Given the description of an element on the screen output the (x, y) to click on. 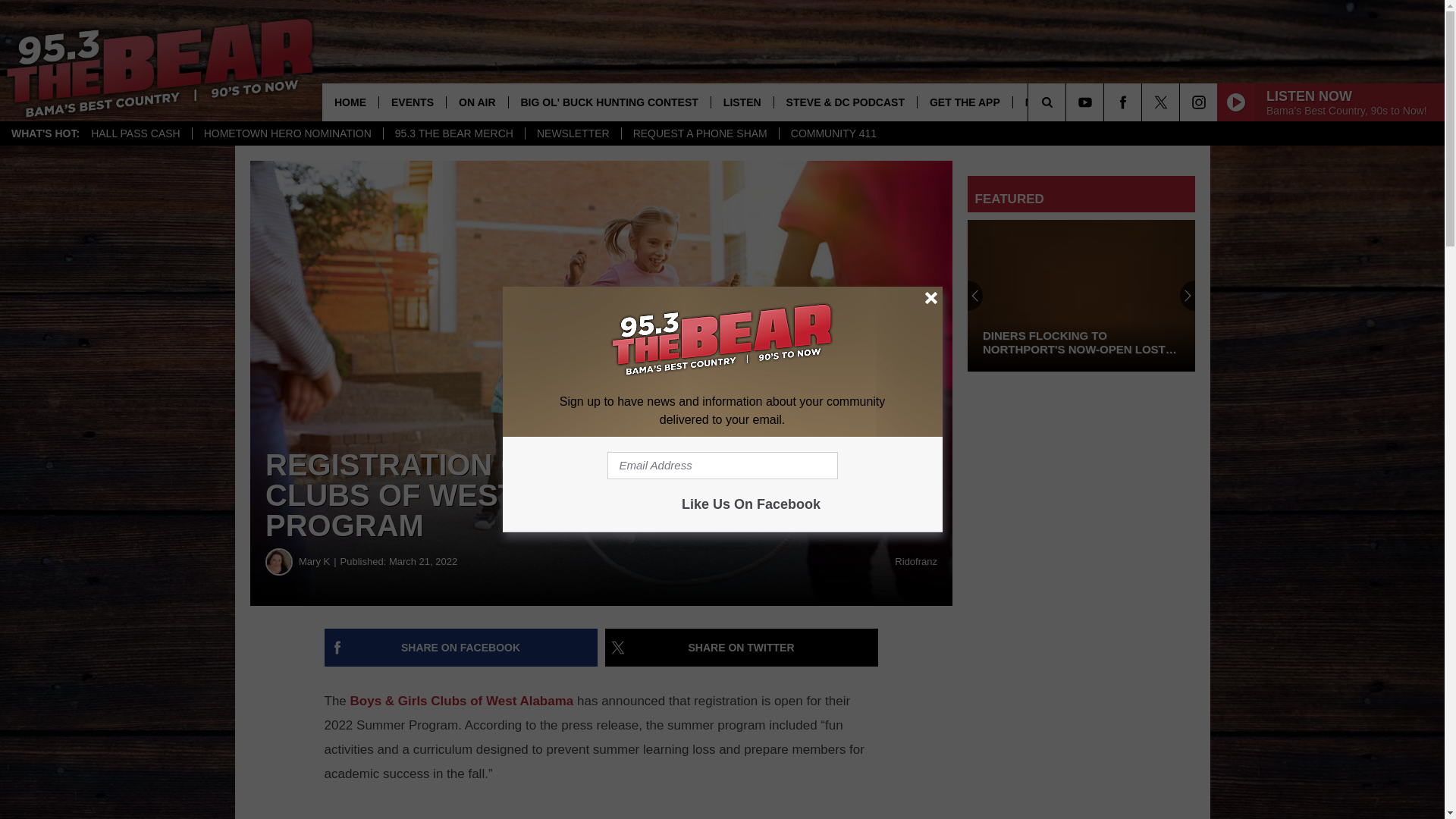
HOME (349, 102)
Share on Twitter (741, 647)
SEARCH (1068, 102)
GET THE APP (964, 102)
REQUEST A PHONE SHAM (699, 133)
HOMETOWN HERO NOMINATION (287, 133)
Email Address (722, 465)
BIG OL' BUCK HUNTING CONTEST (609, 102)
COMMUNITY 411 (833, 133)
EVENTS (411, 102)
95.3 THE BEAR MERCH (453, 133)
SEARCH (1068, 102)
HALL PASS CASH (136, 133)
ON AIR (475, 102)
LISTEN (741, 102)
